Given the description of an element on the screen output the (x, y) to click on. 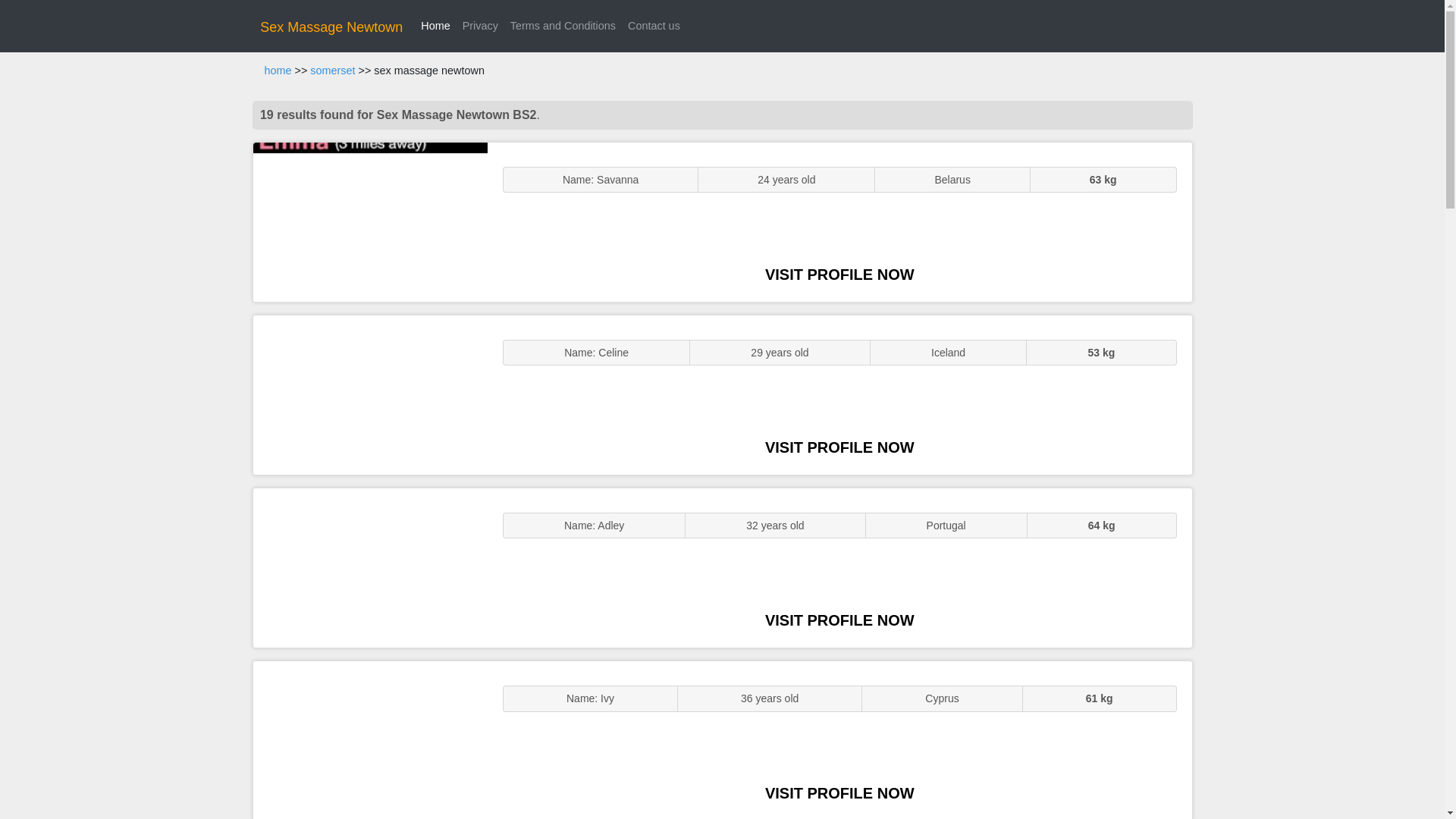
Sexy (370, 567)
Terms and Conditions (562, 25)
Contact us (653, 25)
home (277, 70)
somerset (332, 70)
Privacy (480, 25)
GFE (370, 395)
VISIT PROFILE NOW (839, 792)
VISIT PROFILE NOW (839, 446)
VISIT PROFILE NOW (839, 274)
